Given the description of an element on the screen output the (x, y) to click on. 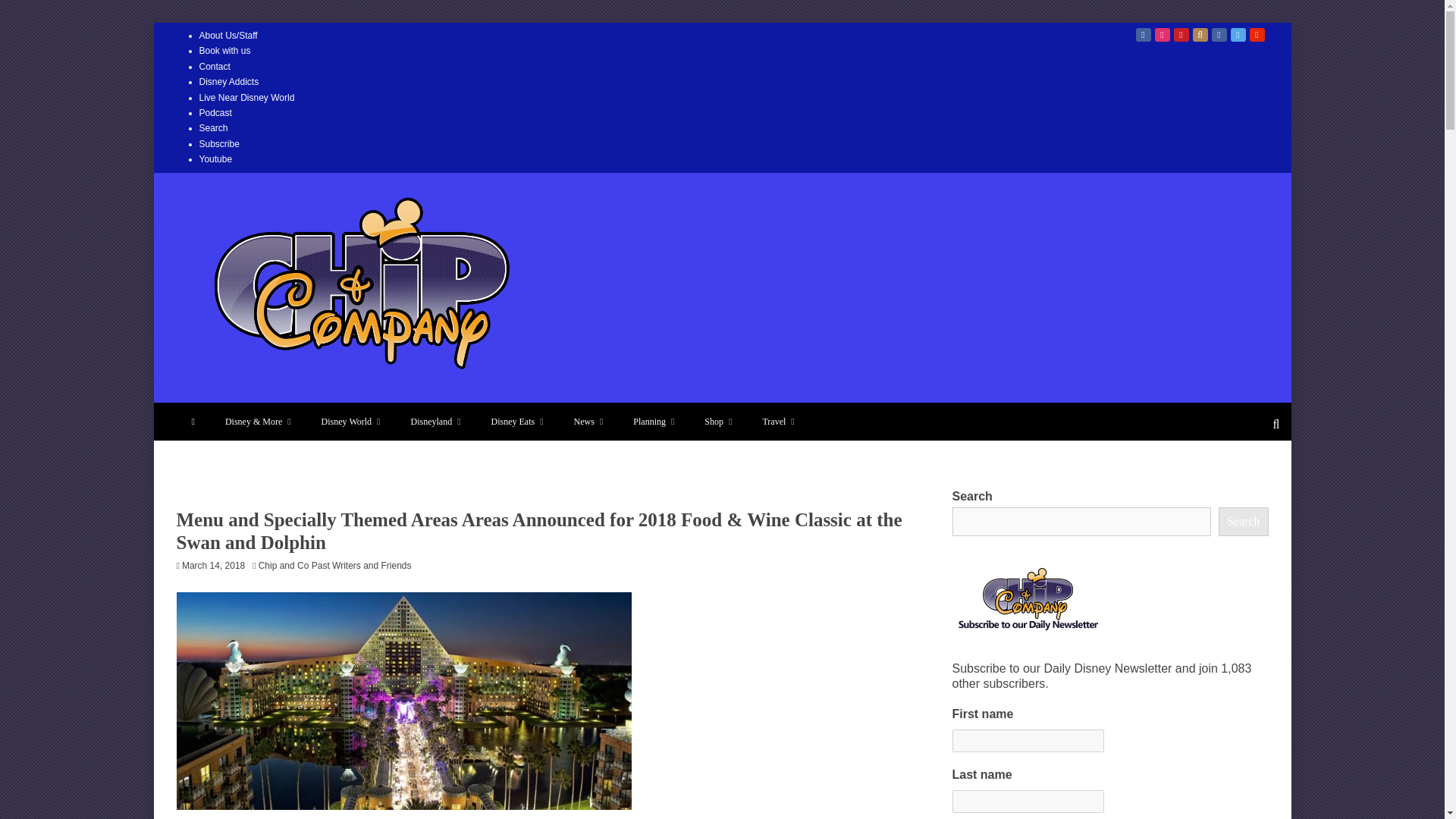
Disney Addicts (228, 81)
Podcast (214, 112)
Subscribe (218, 143)
Facebook (1143, 34)
Facebook Group (1219, 34)
Twitter (1237, 34)
First name (1027, 740)
Podcasts (1199, 34)
Instagram (1161, 34)
Book with us (224, 50)
Disney World (350, 421)
Youtube (214, 158)
Live Near Disney World (246, 97)
Search (212, 127)
